Given the description of an element on the screen output the (x, y) to click on. 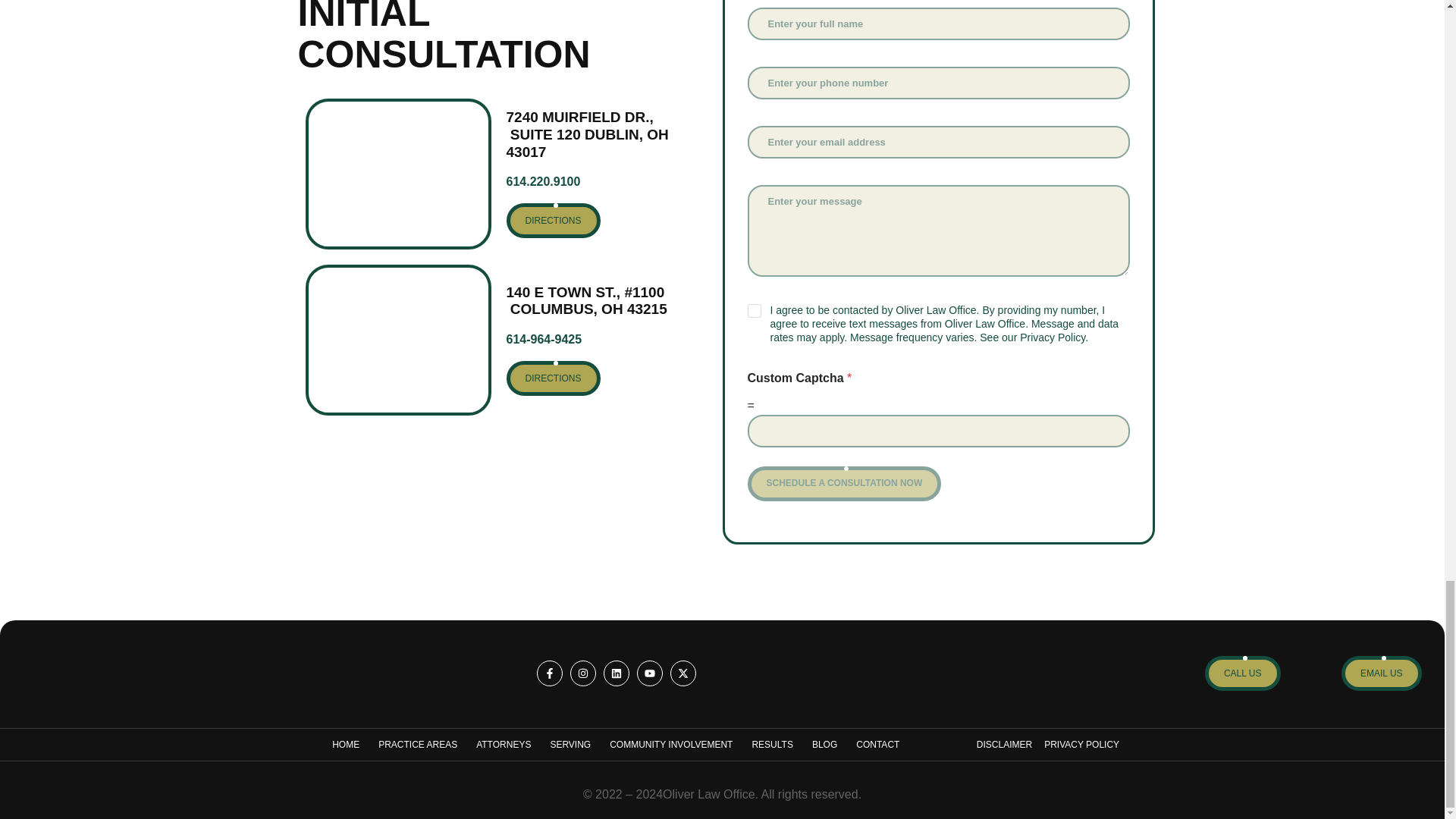
Rectangle - Oliver Law Office (397, 173)
Rectangle 33 - Oliver Law Office (397, 339)
logo - Oliver Law Office (103, 672)
